Given the description of an element on the screen output the (x, y) to click on. 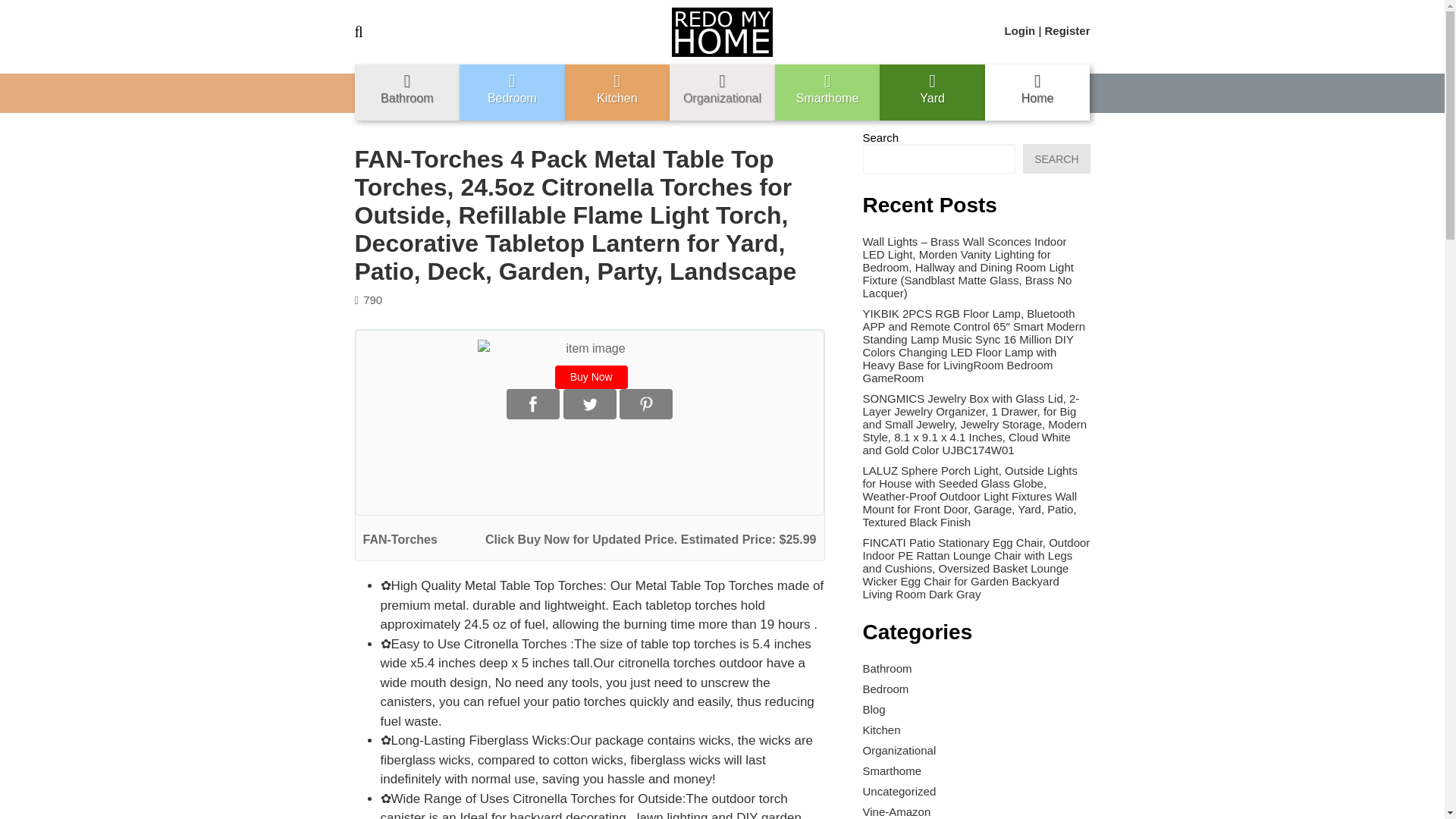
Smarthome (827, 92)
Bathroom (887, 667)
Bedroom (885, 688)
Buy Now (590, 377)
SEARCH (1056, 158)
Bathroom (407, 92)
Kitchen (616, 92)
Login (1019, 30)
